Given the description of an element on the screen output the (x, y) to click on. 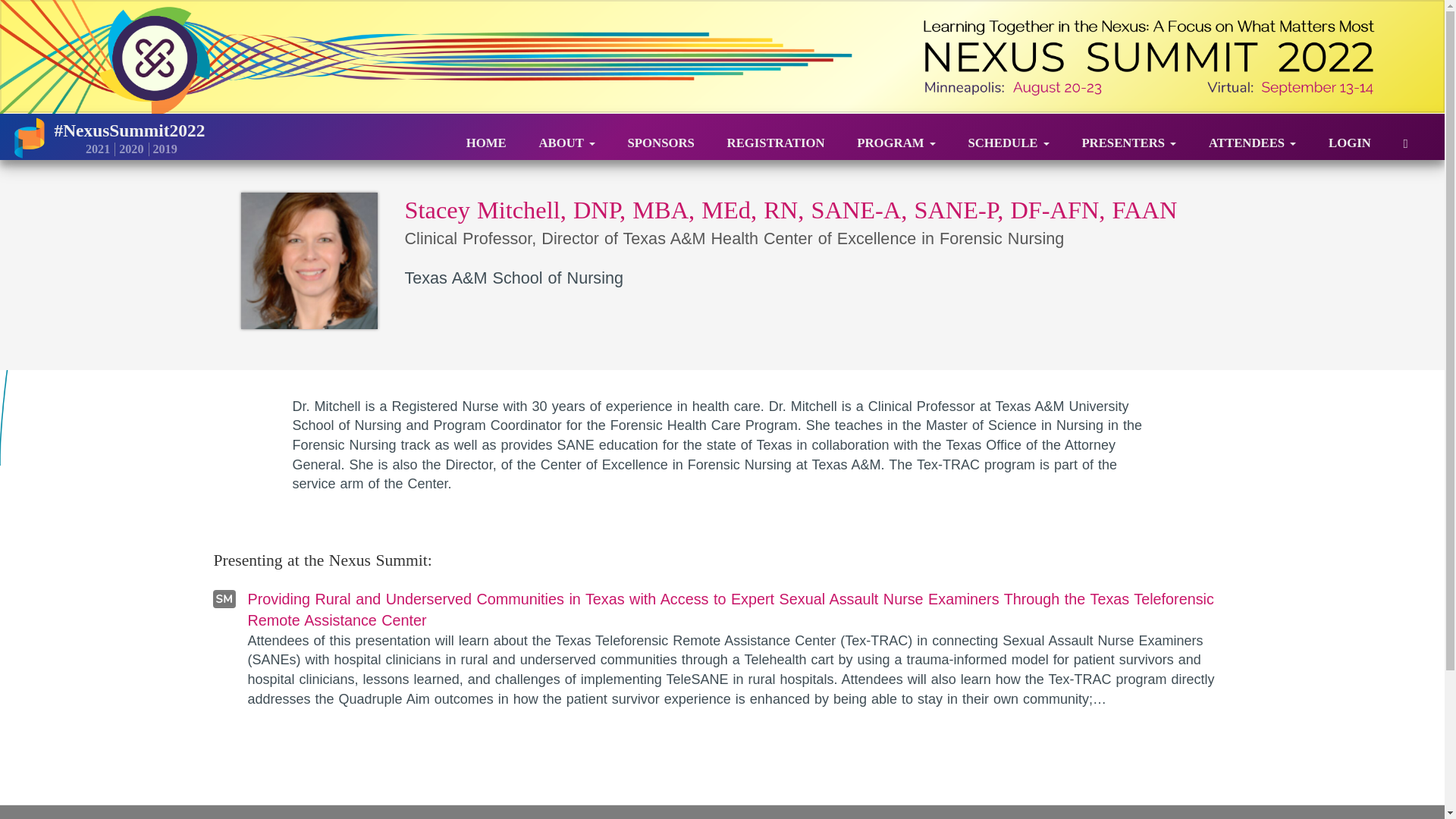
PRESENTERS (1129, 137)
2019 (162, 149)
Seminar (738, 648)
SCHEDULE (1007, 137)
SPONSORS (660, 137)
HOME (486, 137)
PROGRAM (896, 137)
ABOUT (566, 137)
National Center for Interprofessional Practice and Education (29, 136)
REGISTRATION (775, 137)
2021 (95, 149)
2020 (128, 149)
